Given the description of an element on the screen output the (x, y) to click on. 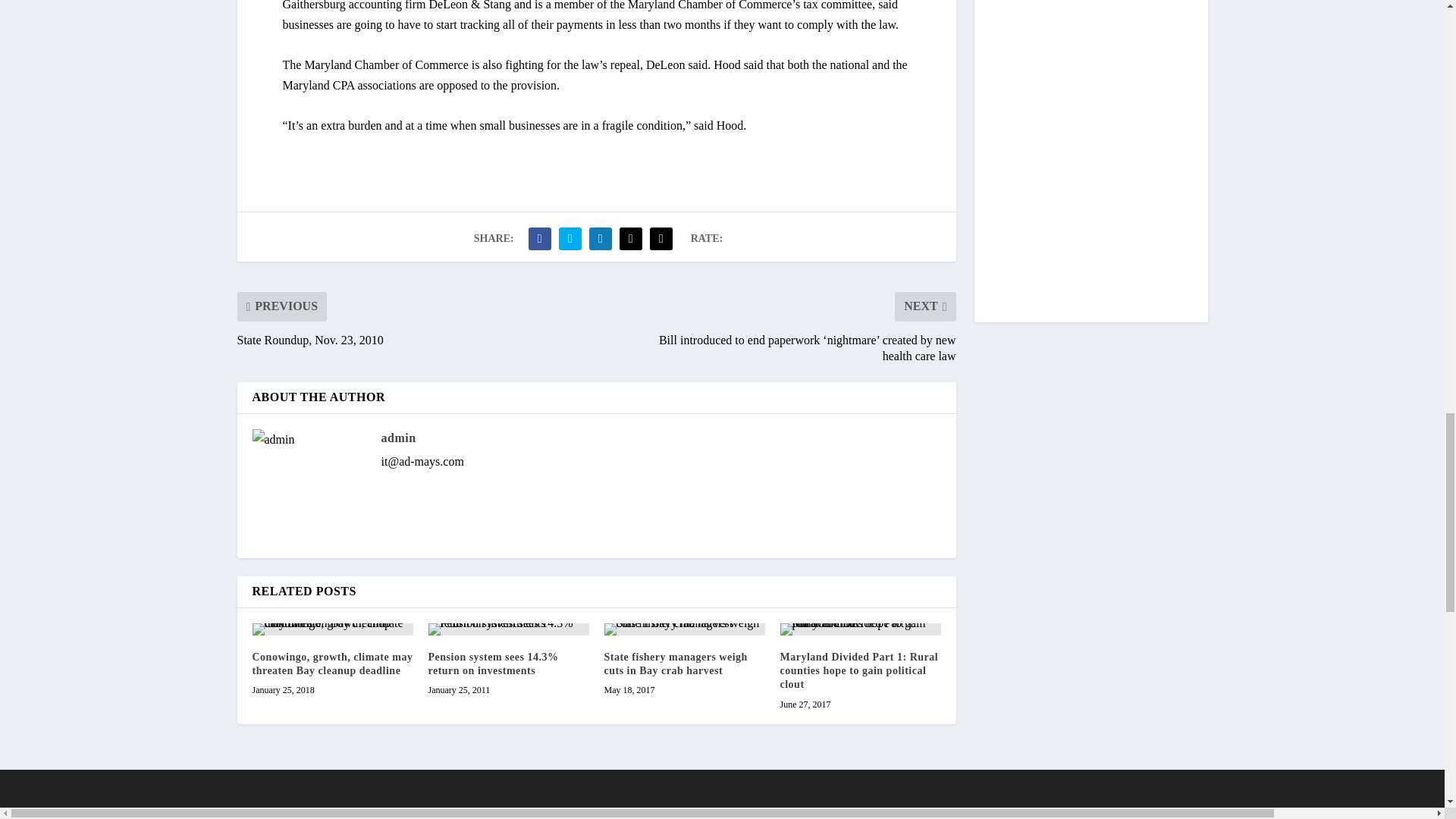
View all posts by admin (397, 437)
admin (397, 437)
Conowingo, growth, climate may threaten Bay cleanup deadline (331, 663)
State fishery managers weigh cuts in Bay crab harvest (675, 663)
Conowingo, growth, climate may threaten Bay cleanup deadline (331, 629)
State fishery managers weigh cuts in Bay crab harvest (684, 629)
